Given the description of an element on the screen output the (x, y) to click on. 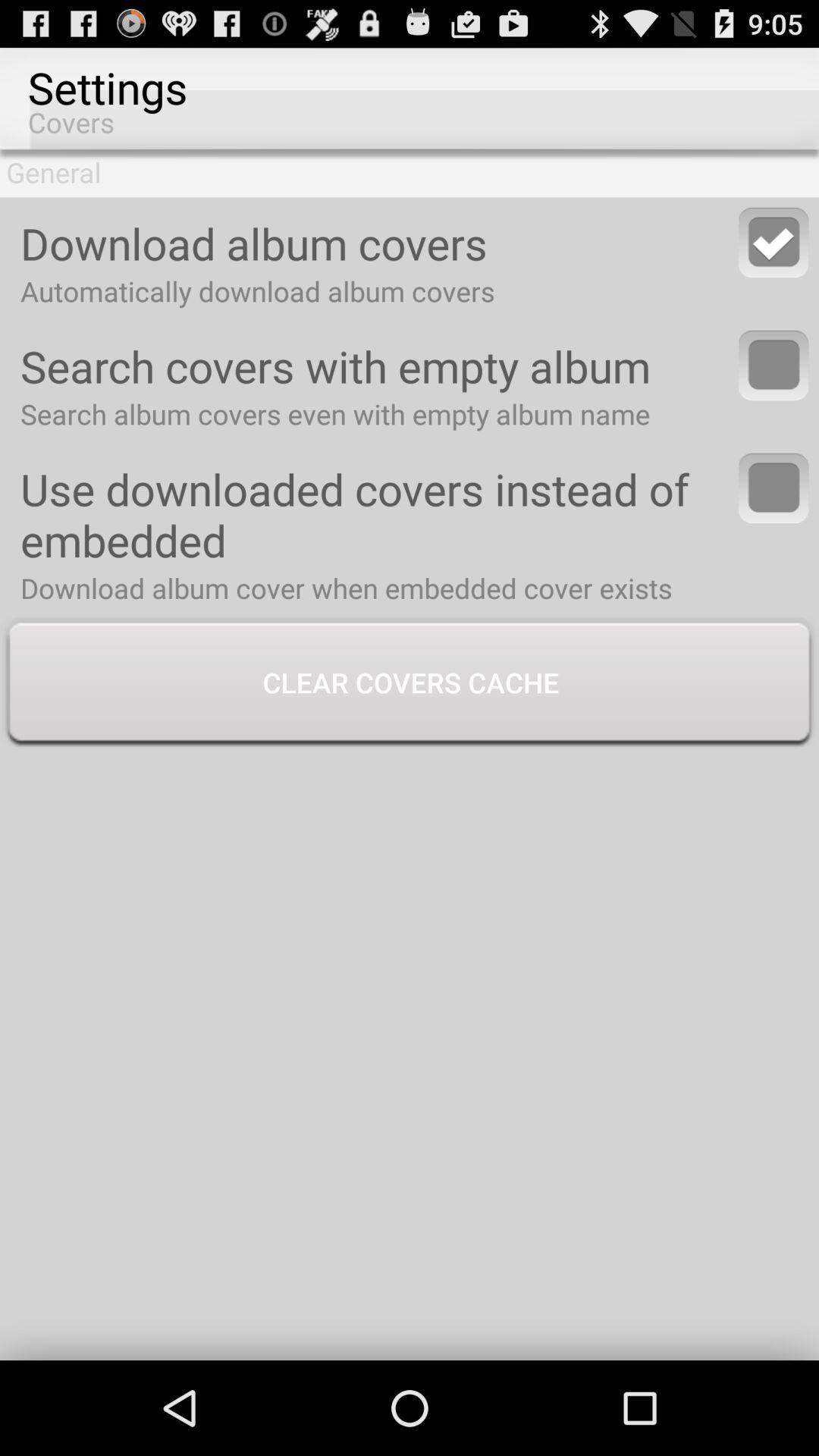
select option to search covers with empty album (773, 365)
